Given the description of an element on the screen output the (x, y) to click on. 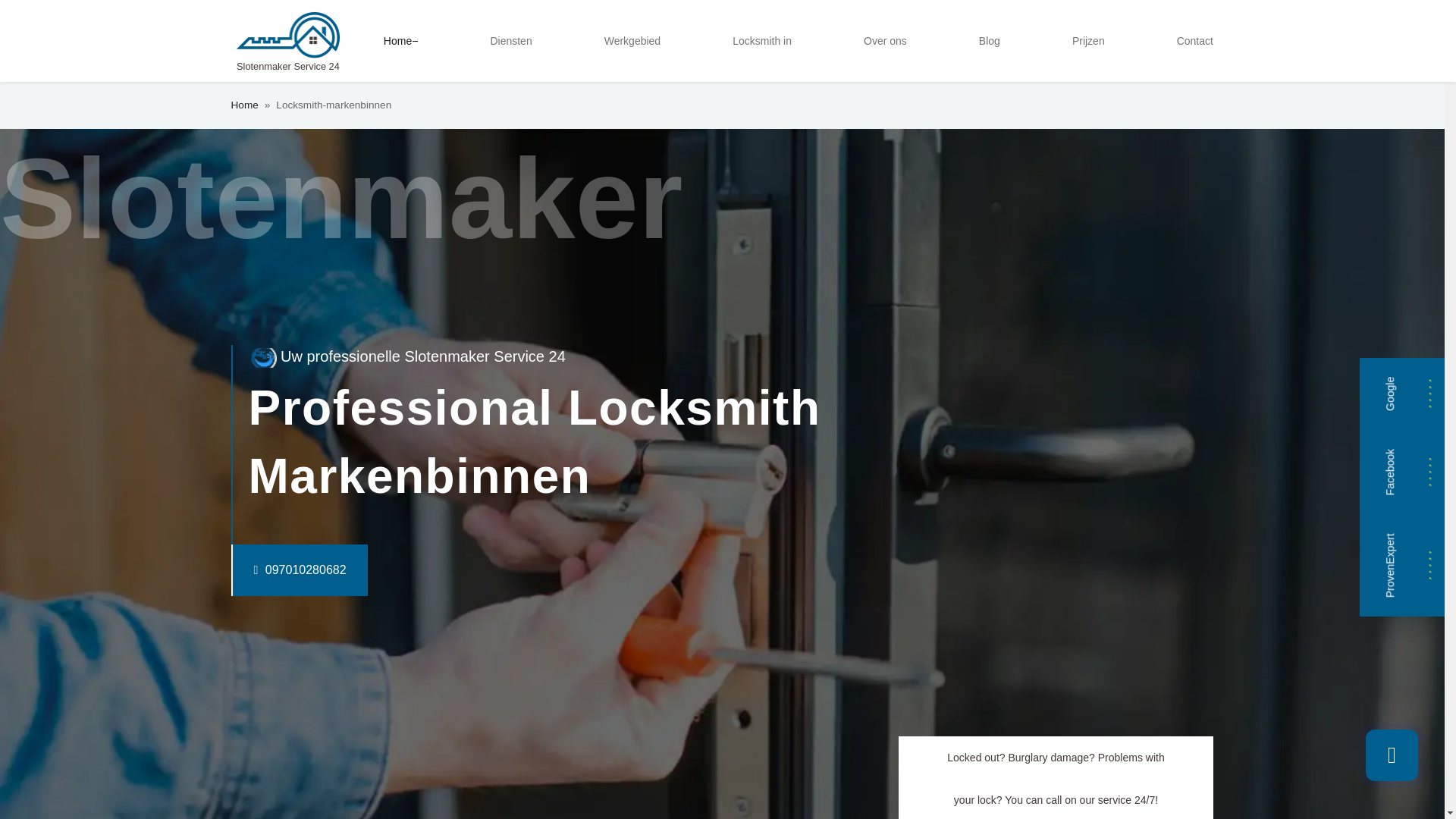
Slotenmaker Service 24 (287, 40)
Blog (989, 40)
097010280682 (268, 570)
Locksmith in (761, 40)
Home (243, 105)
Diensten (510, 40)
Contact (1195, 40)
Werkgebied (632, 40)
Home (401, 40)
Over ons (884, 40)
Prijzen (1087, 40)
